Given the description of an element on the screen output the (x, y) to click on. 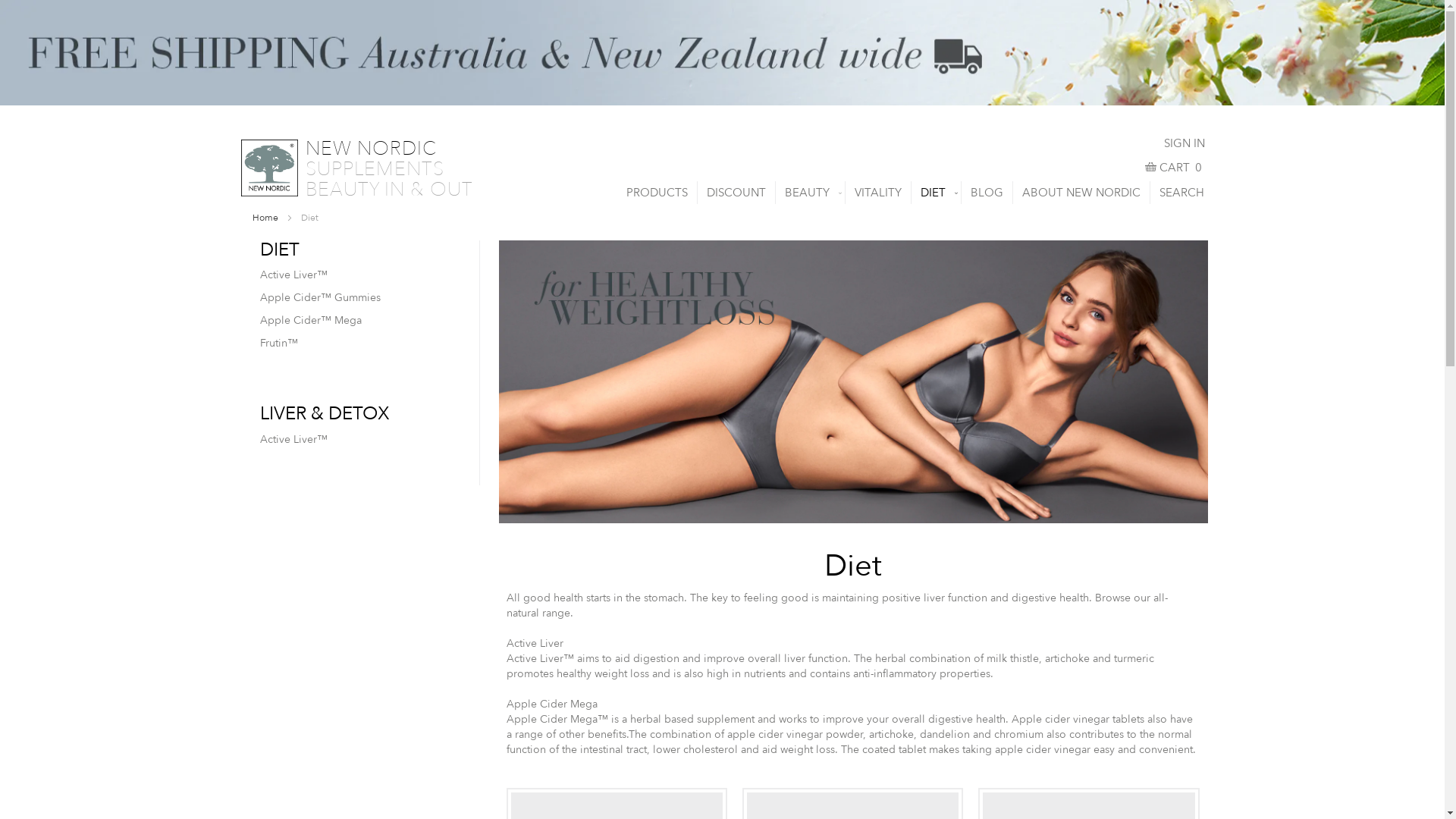
ABOUT NEW NORDIC Element type: text (1081, 192)
PRODUCTS Element type: text (656, 192)
SKIP TO CONTENT Element type: text (262, 134)
VITALITY Element type: text (877, 192)
New Nordic Element type: hover (269, 167)
BEAUTY Element type: text (809, 192)
DIET Element type: text (935, 192)
BLOG Element type: text (986, 192)
SIGN IN Element type: text (1183, 142)
MY CART
CART 0 Element type: text (1174, 167)
DISCOUNT Element type: text (736, 192)
Home Element type: text (265, 217)
